Given the description of an element on the screen output the (x, y) to click on. 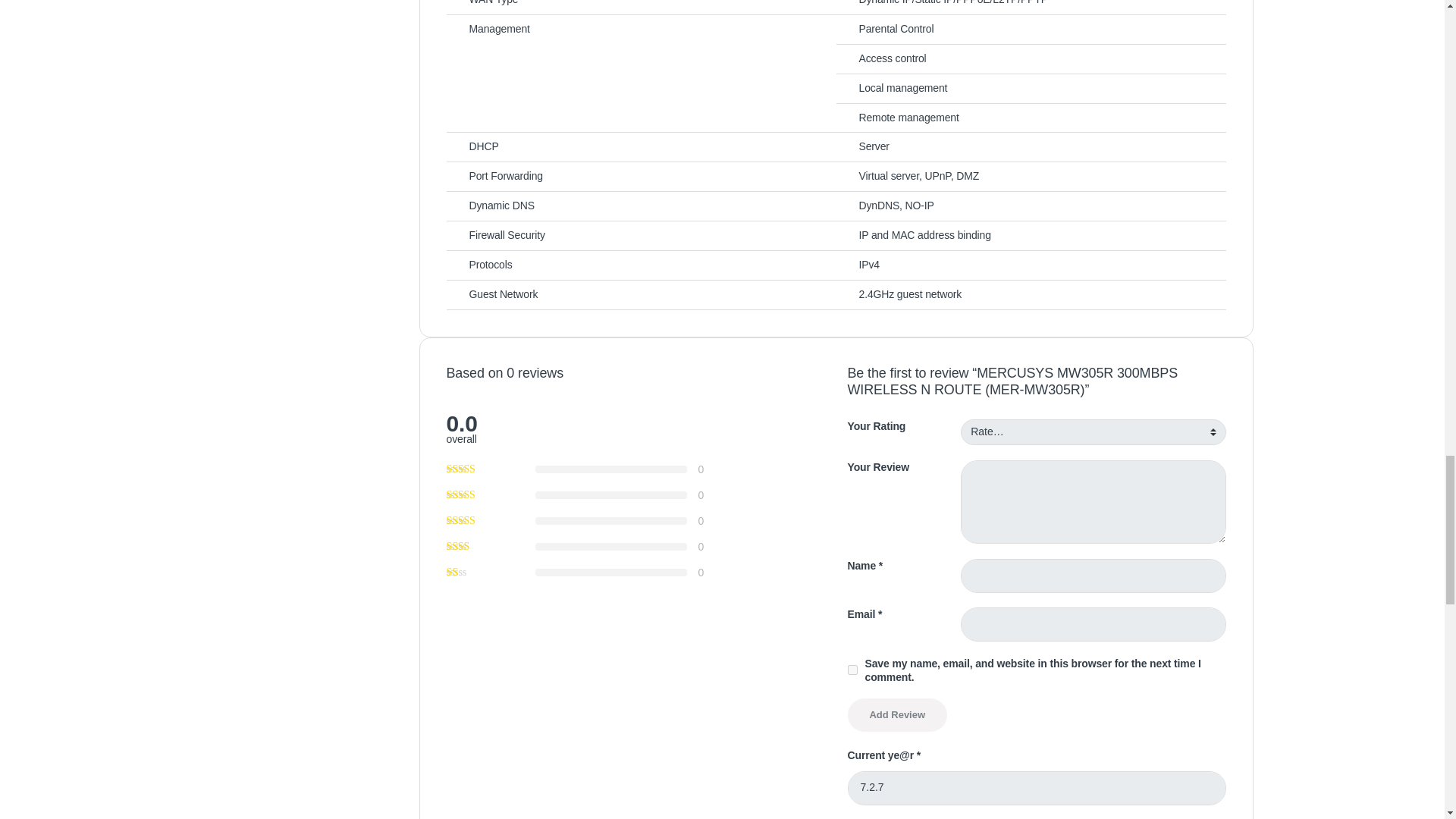
7.2.7 (1036, 788)
yes (852, 669)
Add Review (897, 715)
